Given the description of an element on the screen output the (x, y) to click on. 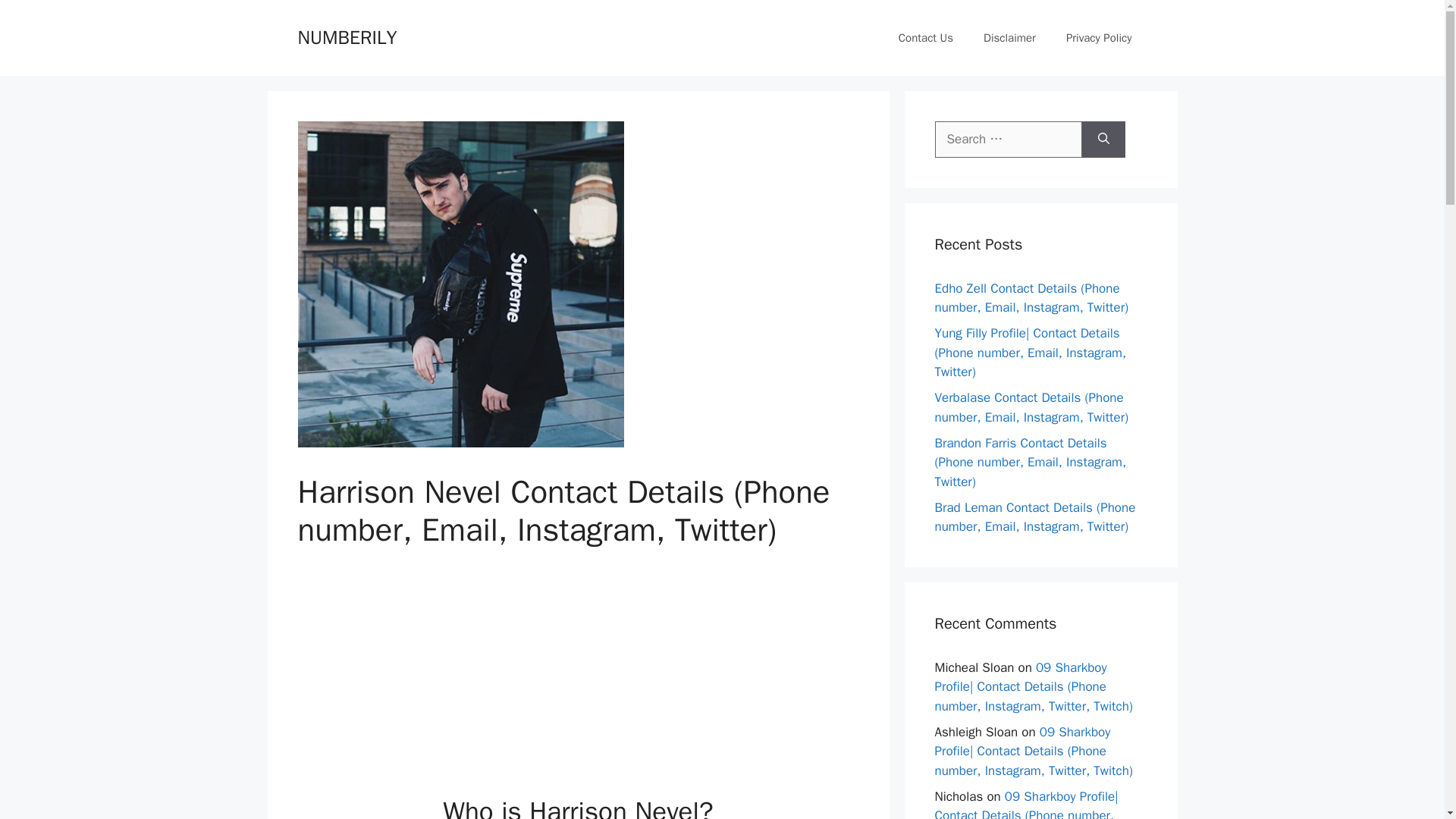
Privacy Policy (1099, 37)
Advertisement (578, 681)
Disclaimer (1009, 37)
NUMBERILY (346, 37)
Contact Us (925, 37)
Search for: (1007, 139)
